Given the description of an element on the screen output the (x, y) to click on. 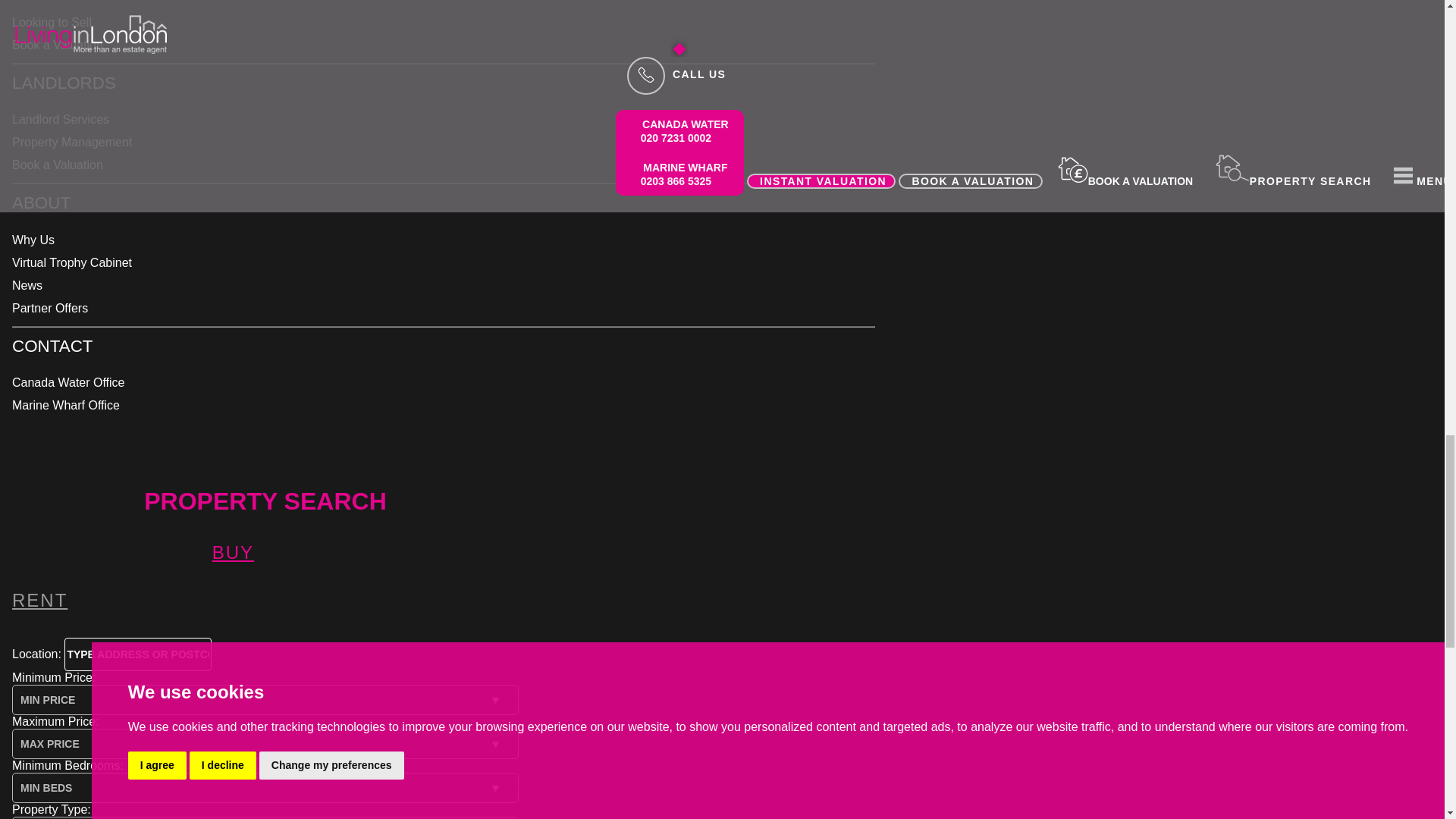
Looking to sell (51, 21)
Virtual Trophy Cabinet (71, 262)
Request a Valuation (57, 164)
Landlords Services (60, 119)
Request a Valuation (57, 44)
Property Management (71, 141)
Partner Offers (49, 308)
Canada Water Office (68, 382)
Marine Wharf Office (65, 404)
Why us (33, 239)
News (26, 285)
